Given the description of an element on the screen output the (x, y) to click on. 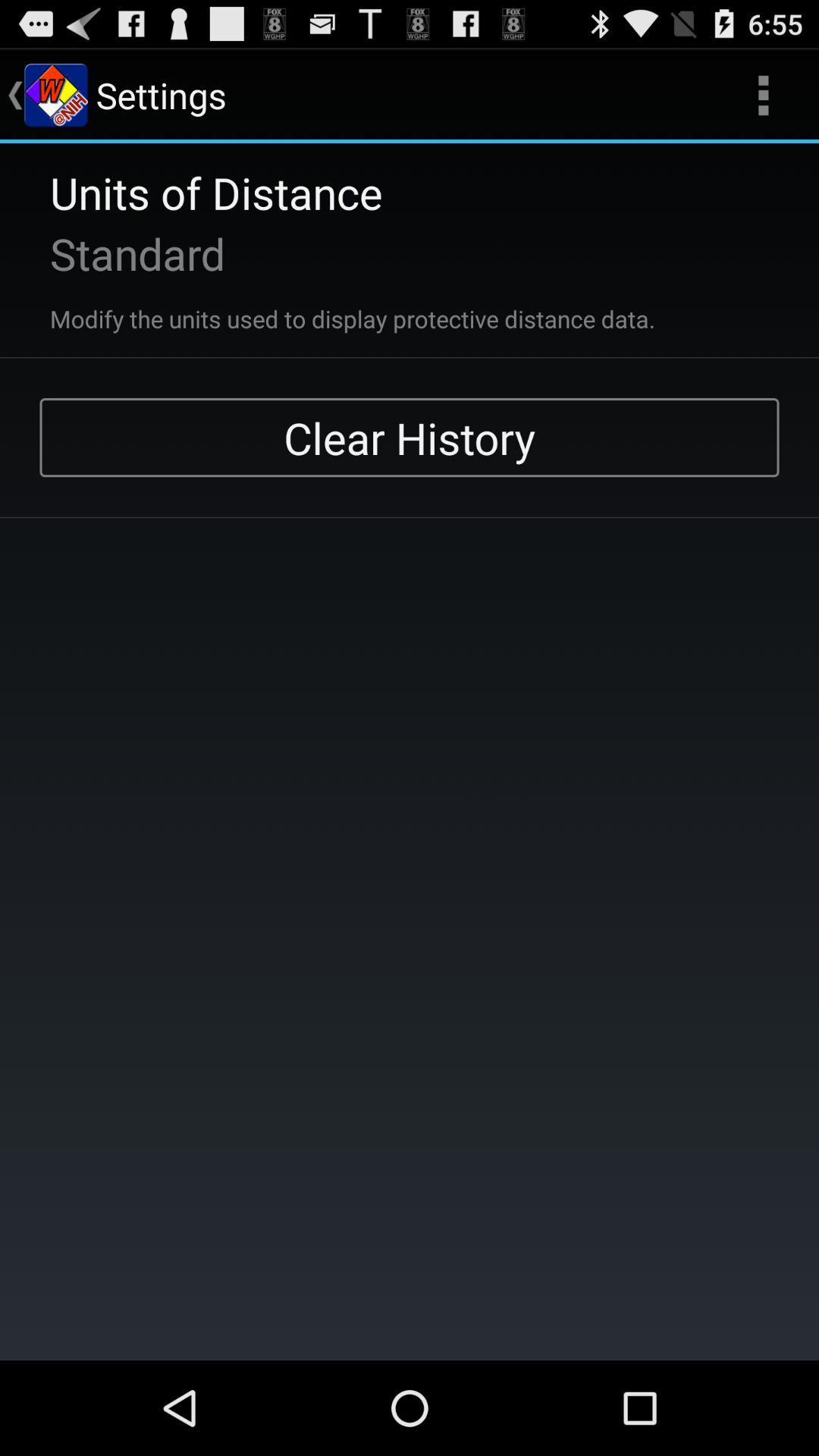
choose item below the modify the units (409, 437)
